Given the description of an element on the screen output the (x, y) to click on. 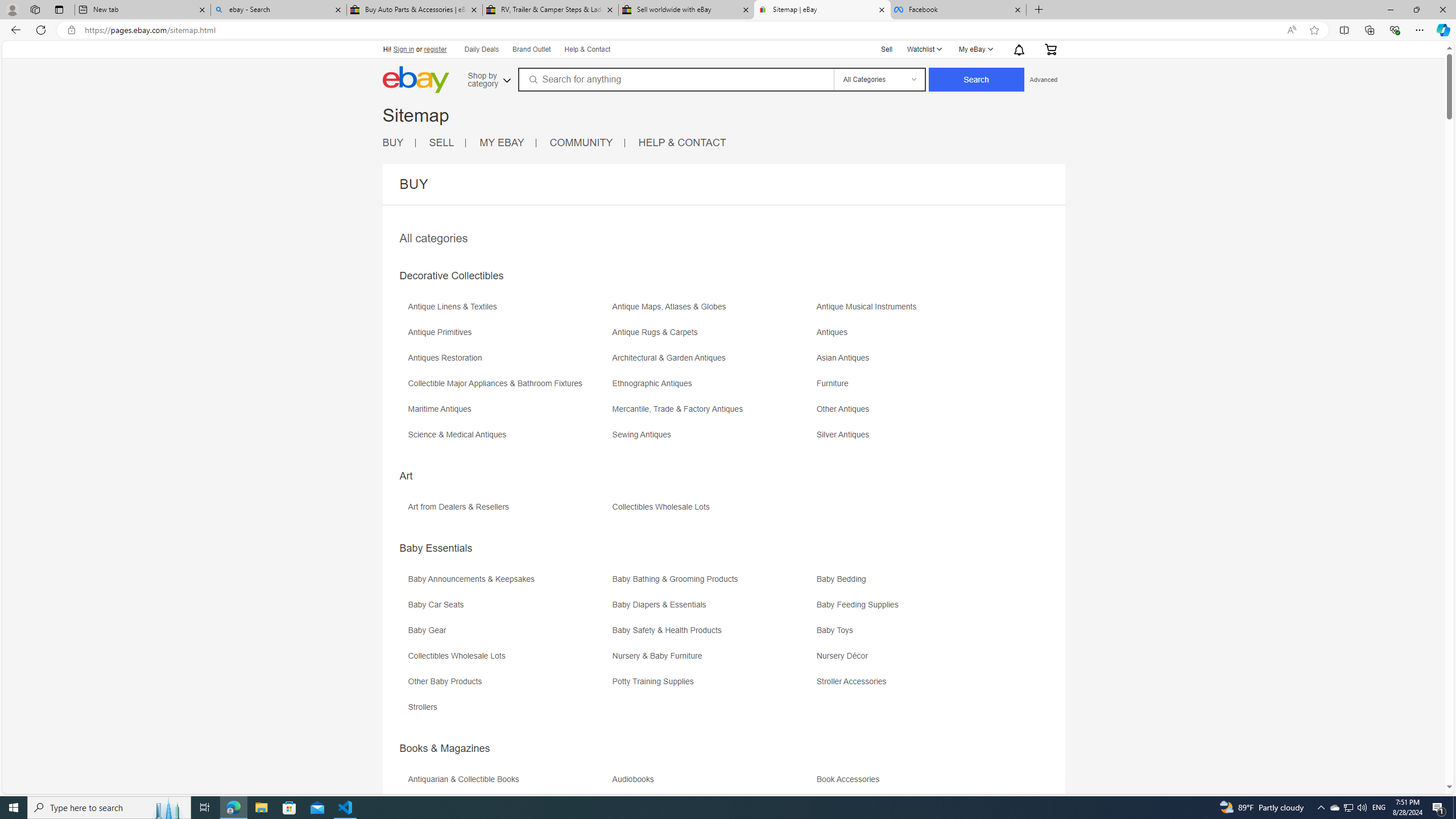
Science & Medical Antiques (508, 438)
Strollers (508, 711)
Science & Medical Antiques (459, 434)
Baby Bathing & Grooming Products (677, 579)
Antique Maps, Atlases & Globes (671, 306)
Daily Deals (480, 49)
Sign in (403, 49)
Help & Contact (586, 49)
